Given the description of an element on the screen output the (x, y) to click on. 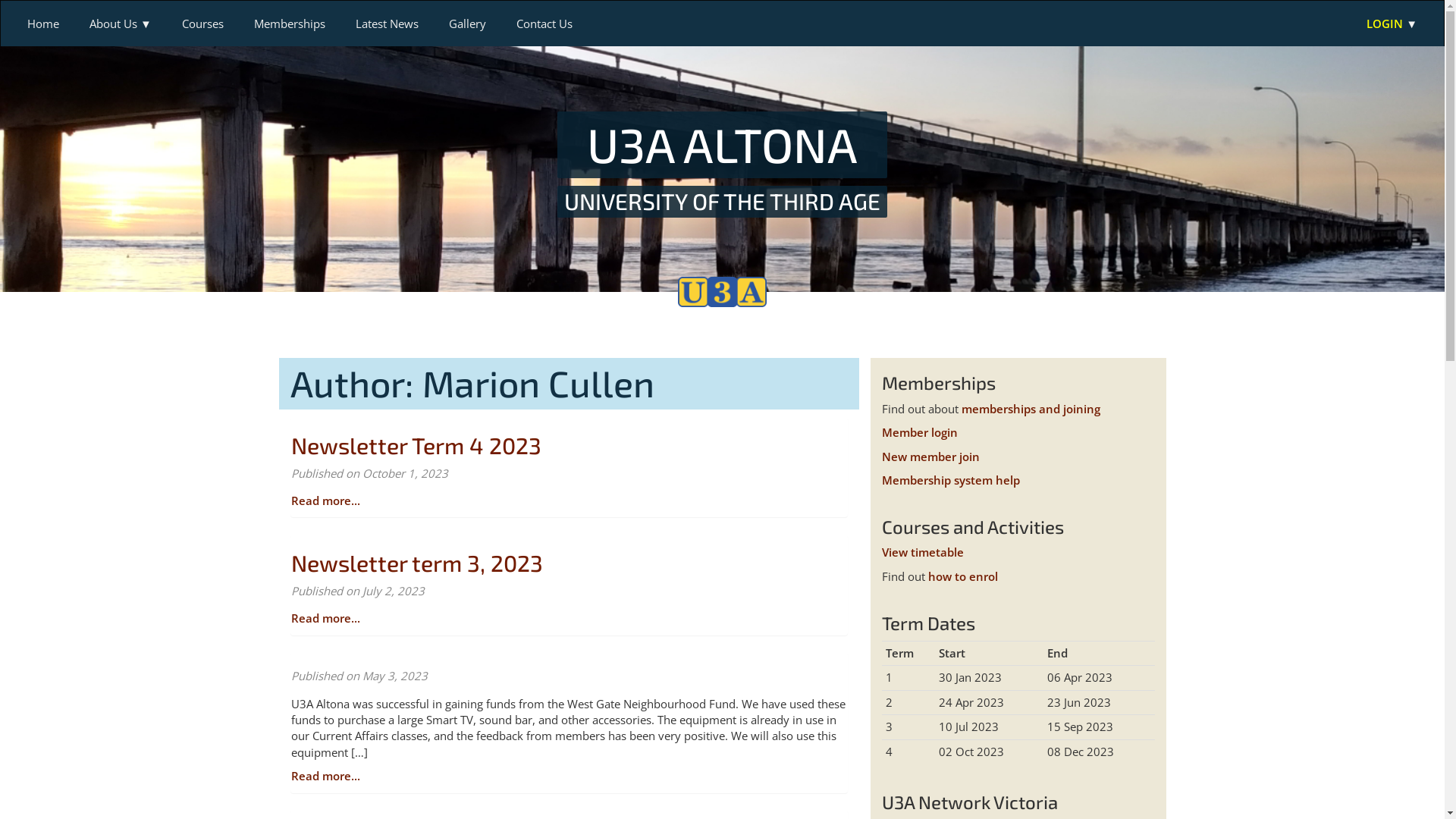
Read more... Element type: text (325, 500)
Home Element type: text (43, 23)
Gallery Element type: text (467, 23)
View timetable Element type: text (922, 551)
U3A ALTONA
UNIVERSITY OF THE THIRD AGE Element type: text (722, 163)
memberships and joining Element type: text (1030, 408)
Read more... Element type: text (325, 775)
Member login Element type: text (919, 431)
Memberships Element type: text (289, 23)
Contact Us Element type: text (544, 23)
About Us Element type: text (120, 23)
Courses Element type: text (202, 23)
LOGIN Element type: text (1391, 23)
New member join Element type: text (930, 456)
Read more... Element type: text (325, 617)
Newsletter term 3, 2023 Element type: text (416, 562)
how to enrol Element type: text (962, 575)
Membership system help Element type: text (950, 479)
Latest News Element type: text (386, 23)
Newsletter Term 4 2023 Element type: text (416, 444)
